Given the description of an element on the screen output the (x, y) to click on. 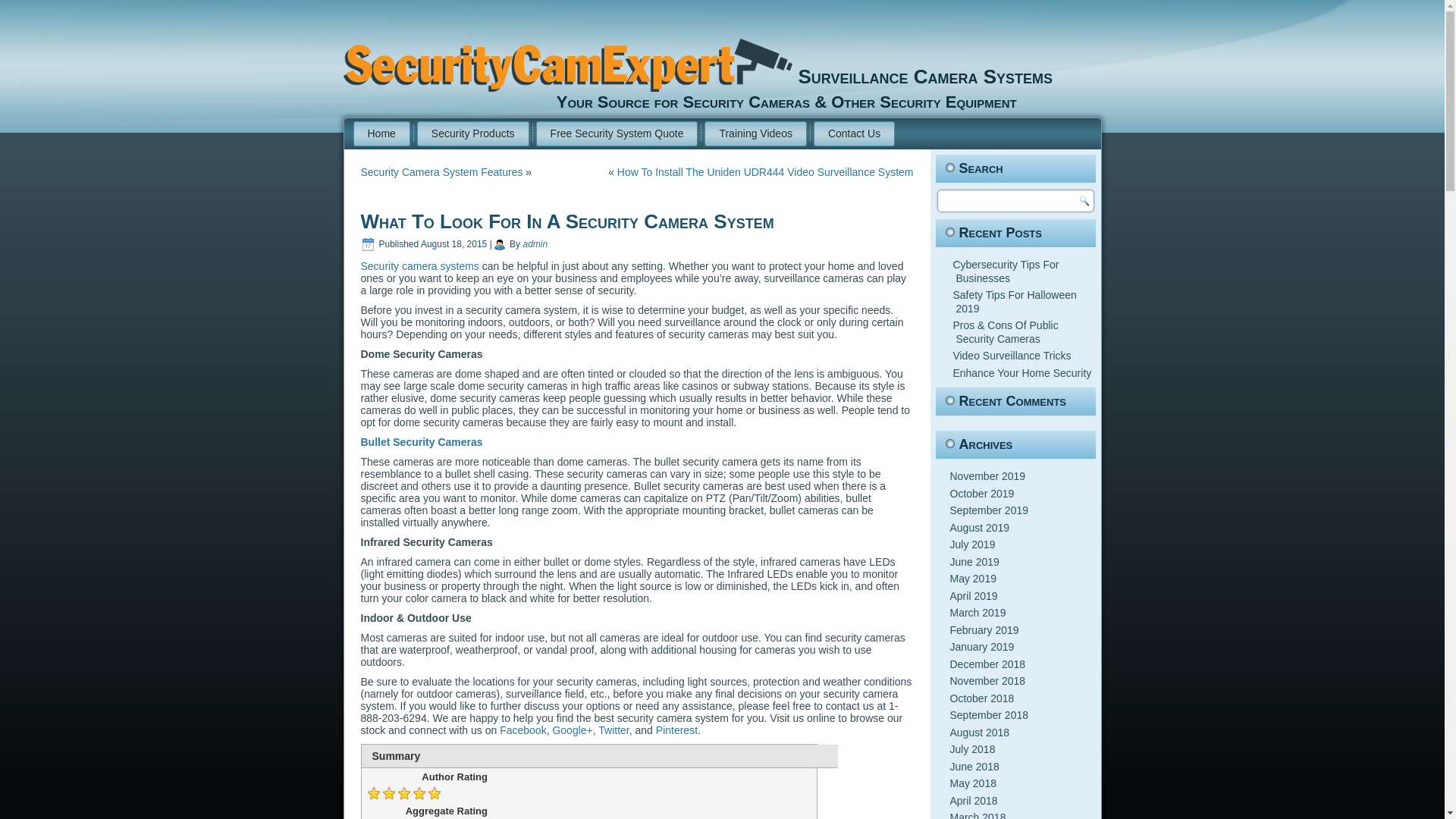
admin (534, 244)
Home (381, 133)
Pinterest (676, 729)
Safety Tips For Halloween 2019 (1013, 301)
3 (794, 755)
Free Security System Quote (616, 133)
2 (780, 755)
Contact Us (854, 133)
5 (820, 755)
Twitter (613, 729)
How To Install The Uniden UDR444 Video Surveillance System (765, 172)
1 (768, 755)
Surveillance Camera Systems (924, 76)
2 (780, 755)
3 (794, 755)
